Given the description of an element on the screen output the (x, y) to click on. 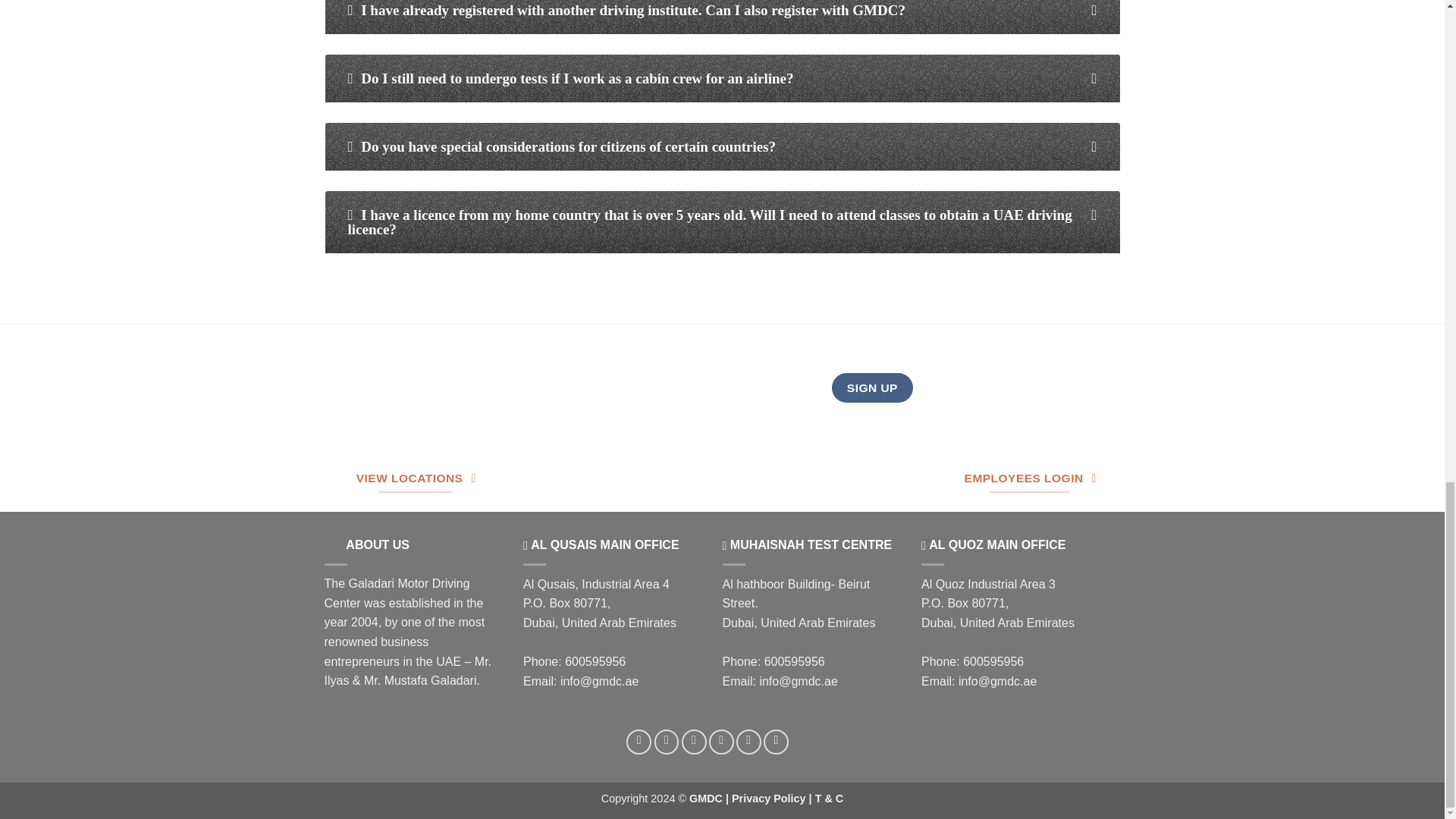
Follow on Facebook (638, 741)
Follow on Instagram (666, 741)
Sign Up (871, 387)
Follow on TikTok (693, 741)
